Given the description of an element on the screen output the (x, y) to click on. 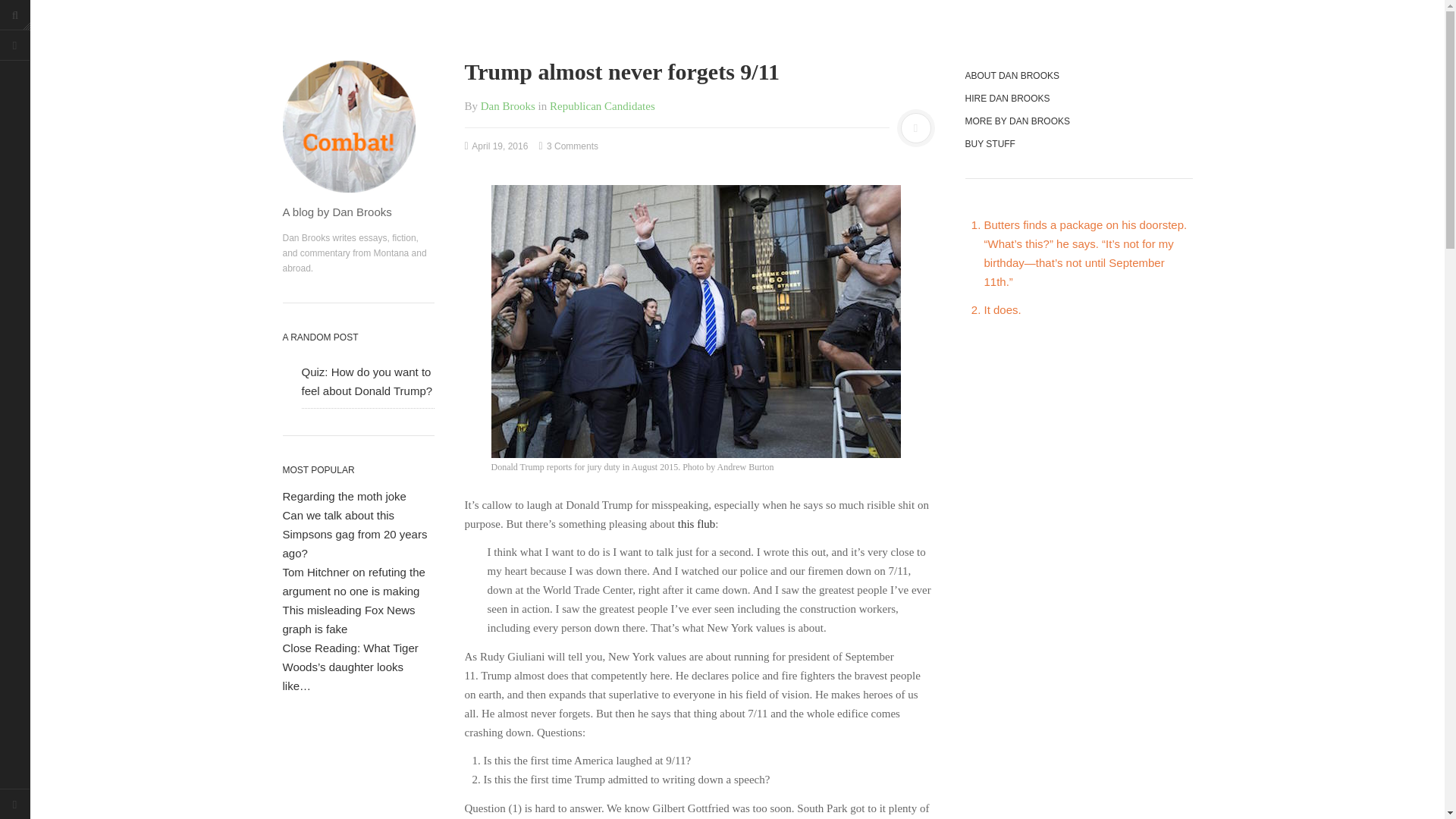
Dan Brooks (507, 105)
Tom Hitchner on refuting the argument no one is making (353, 581)
April 19, 2016 (495, 145)
Can we talk about this Simpsons gag from 20 years ago? (354, 533)
HIRE DAN BROOKS (1064, 98)
3 Comments (568, 145)
Republican Candidates (602, 105)
Quiz: How do you want to feel about Donald Trump? (366, 381)
This misleading Fox News graph is fake (348, 619)
Regarding the moth joke (344, 495)
